Given the description of an element on the screen output the (x, y) to click on. 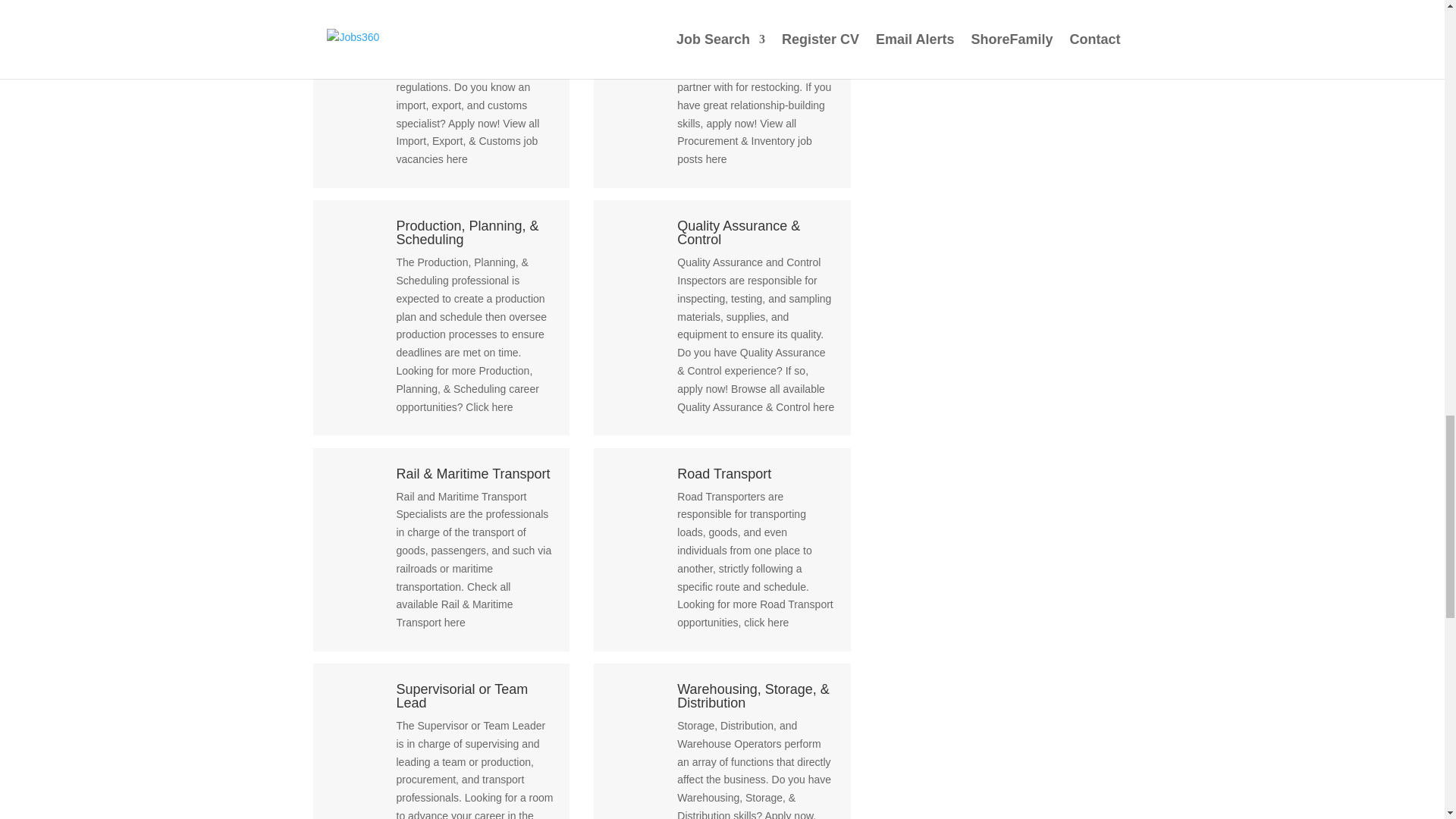
Road Transport (724, 473)
Supervisorial or Team Lead (461, 695)
